Given the description of an element on the screen output the (x, y) to click on. 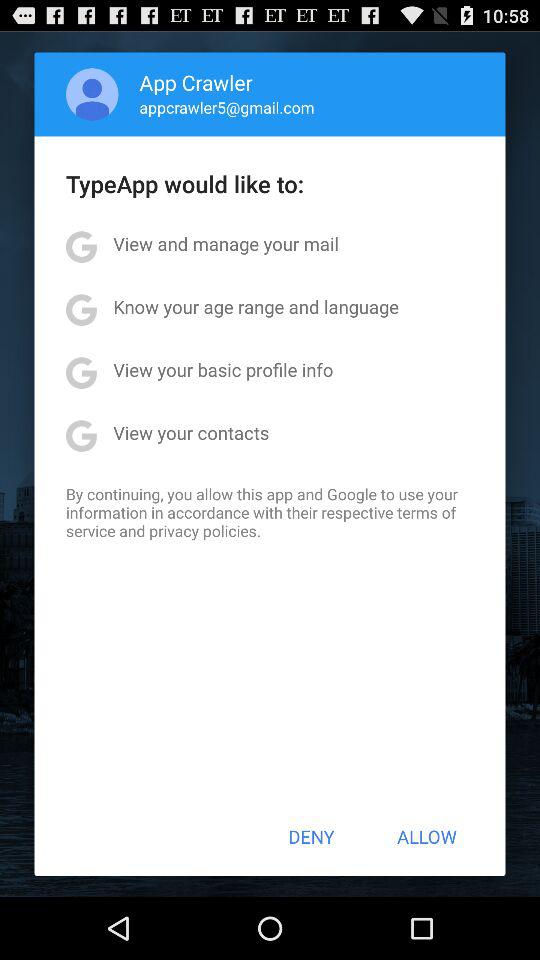
choose deny item (311, 836)
